Given the description of an element on the screen output the (x, y) to click on. 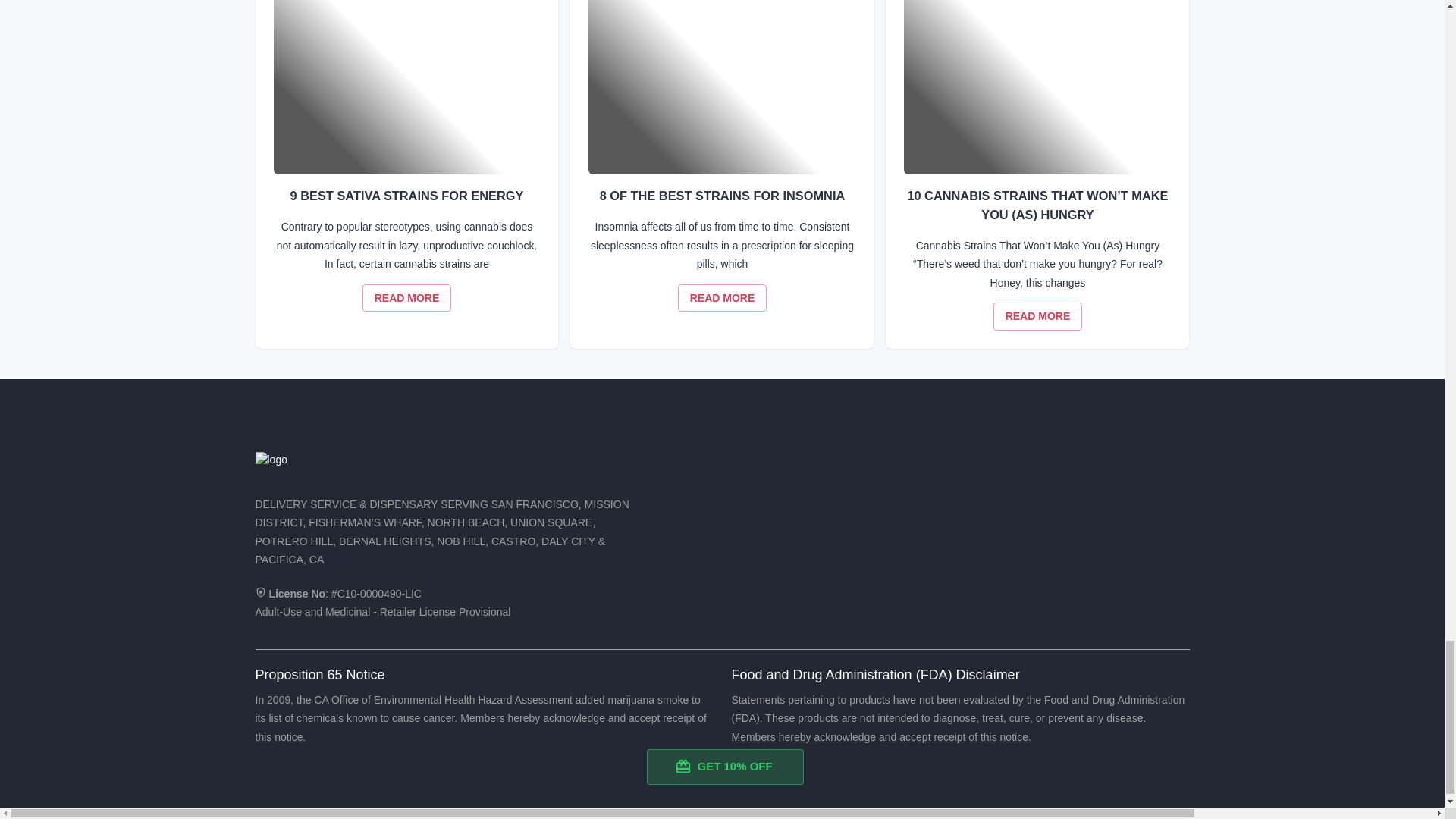
8 OF THE BEST STRAINS FOR INSOMNIA (722, 87)
READ 8 OF THE BEST STRAINS FOR INSOMNIA (406, 298)
9 BEST SATIVA STRAINS FOR ENERGY (722, 298)
READ 9 BEST SATIVA STRAINS FOR ENERGY (722, 298)
